Given the description of an element on the screen output the (x, y) to click on. 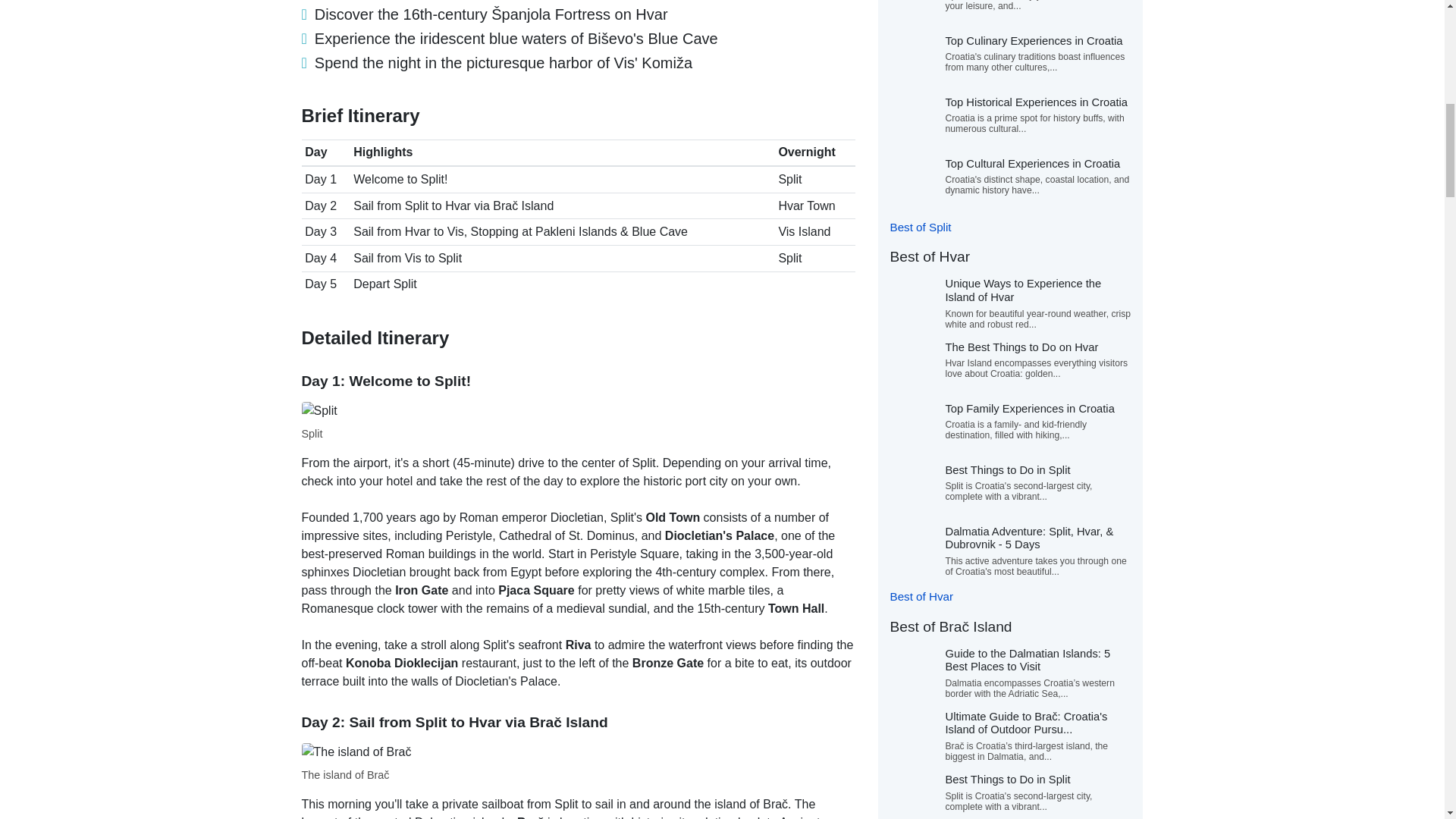
Best Things to Do in Split (1007, 779)
Top Family Experiences in Croatia (1028, 408)
The Best Things to Do on Hvar (1020, 346)
Top Culinary Experiences in Croatia (1033, 40)
Unique Ways to Experience the Island of Hvar (1022, 290)
Top Historical Experiences in Croatia (1035, 102)
Top Cultural Experiences in Croatia (1031, 163)
Guide to the Dalmatian Islands: 5 Best Places to Visit (1026, 660)
Best Things to Do in Split (1007, 469)
